Given the description of an element on the screen output the (x, y) to click on. 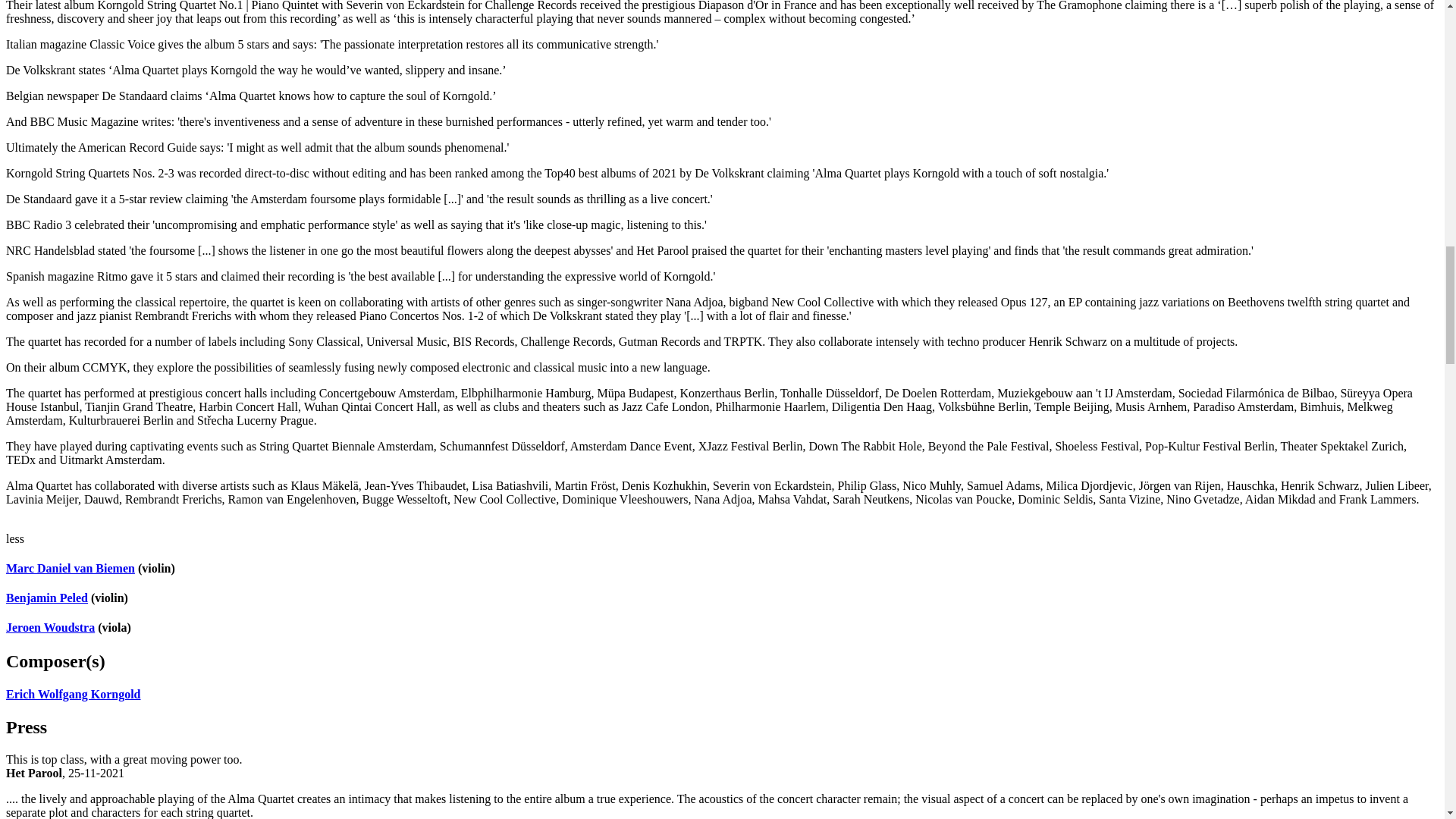
Erich Wolfgang Korngold (73, 694)
Marc Daniel van Biemen (70, 567)
Benjamin Peled (46, 597)
Jeroen Woudstra (49, 626)
